Given the description of an element on the screen output the (x, y) to click on. 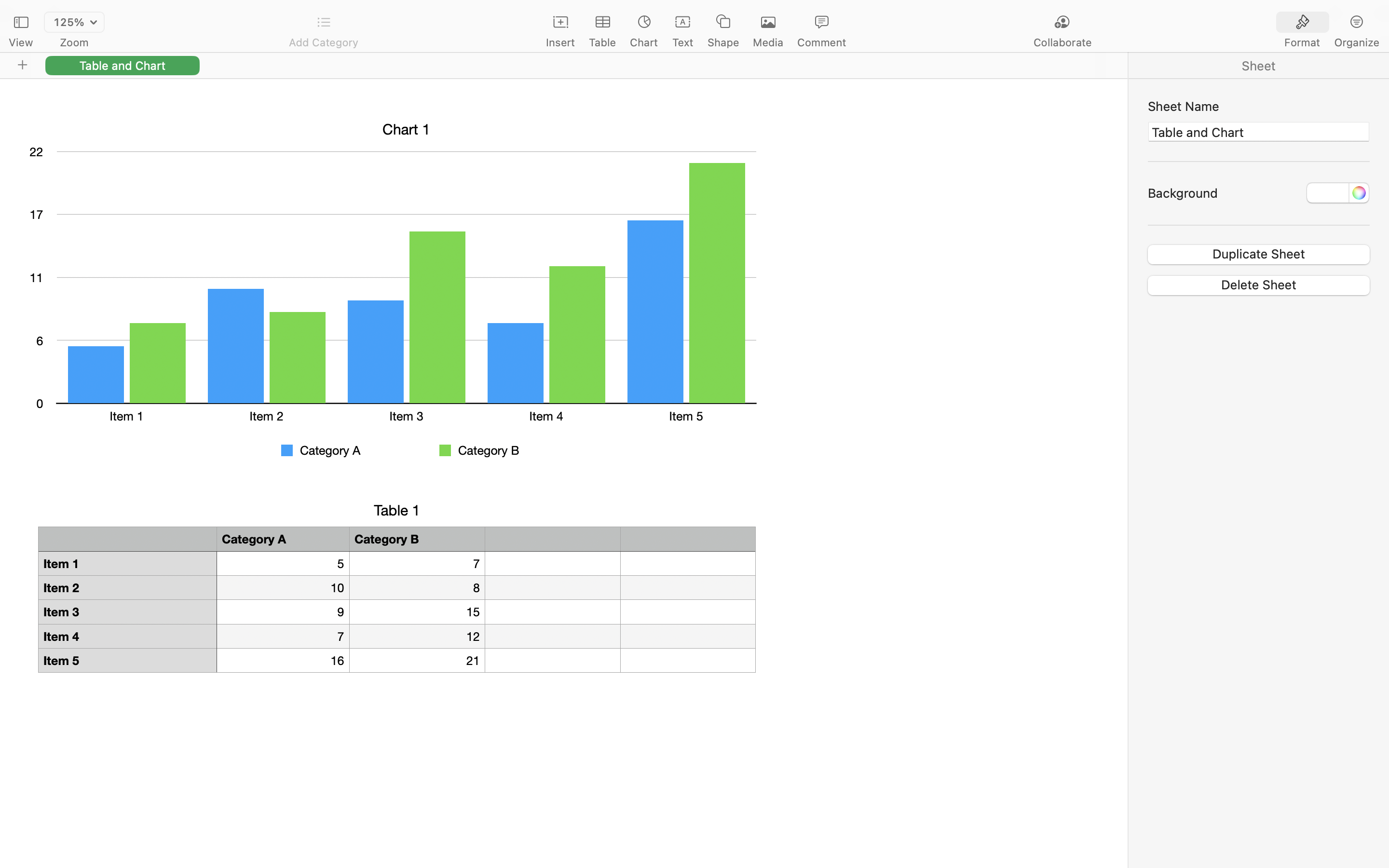
View Element type: AXStaticText (20, 42)
Format Element type: AXStaticText (1302, 42)
<AXUIElement 0x12503ee70> {pid=1420} Element type: AXRadioGroup (1258, 65)
Media Element type: AXStaticText (767, 42)
